Given the description of an element on the screen output the (x, y) to click on. 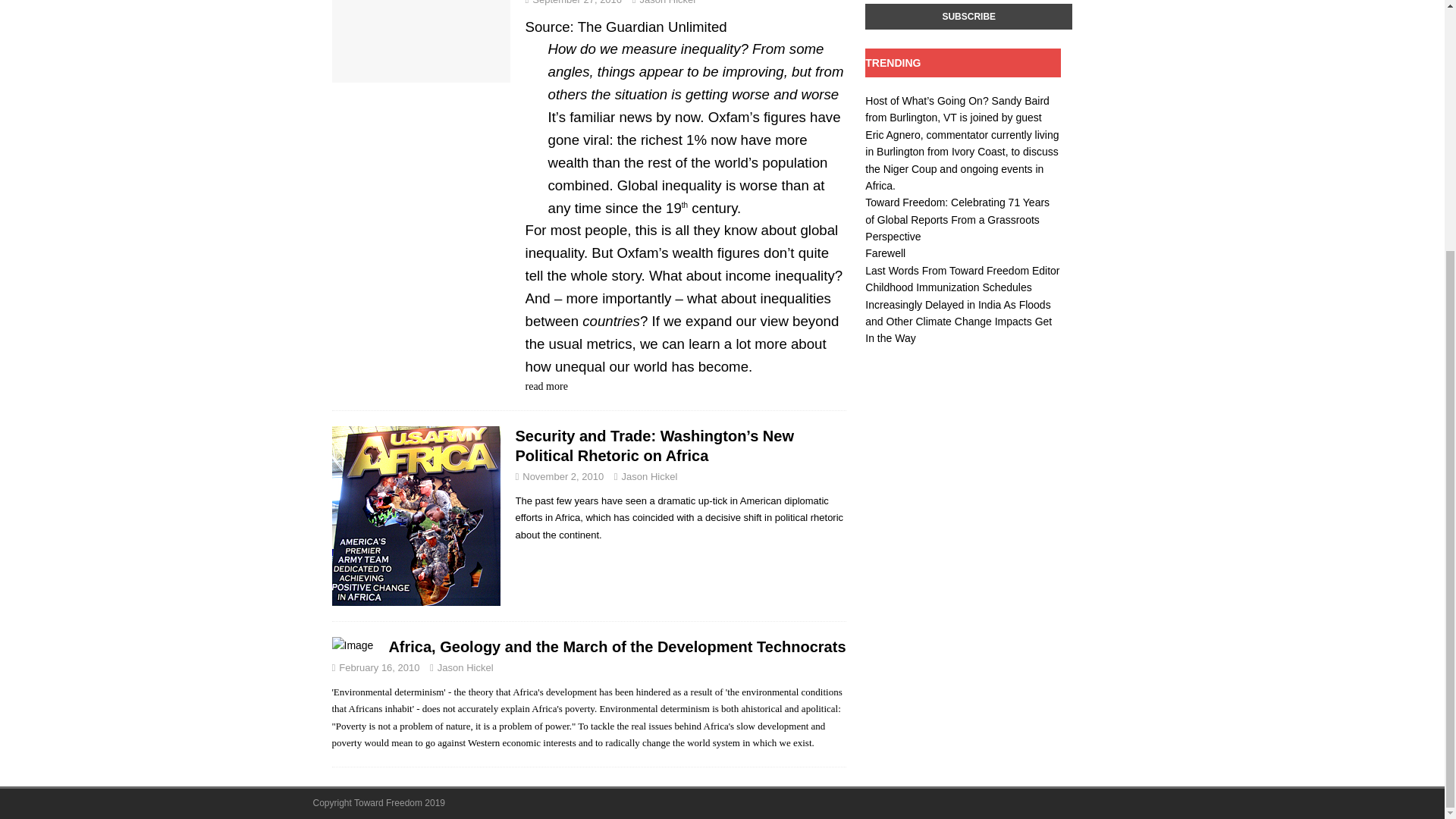
September 27, 2016 (576, 2)
November 2, 2010 (563, 476)
read more (545, 386)
Jason Hickel (465, 667)
Africa, Geology and the March of the Development Technocrats (616, 646)
Subscribe (967, 16)
Subscribe (967, 16)
Jason Hickel (649, 476)
February 16, 2010 (379, 667)
Jason Hickel (667, 2)
